Given the description of an element on the screen output the (x, y) to click on. 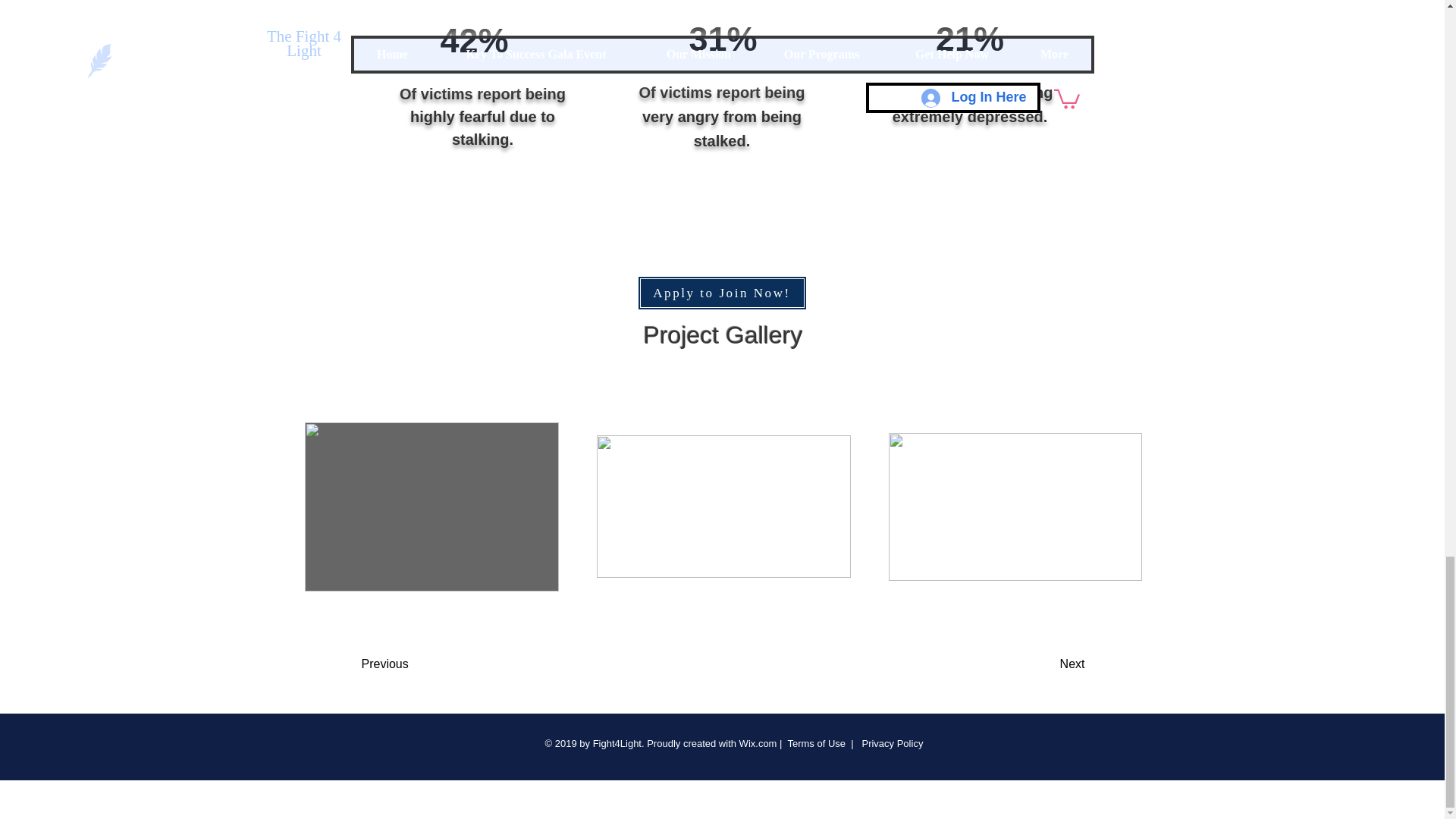
Next (1033, 664)
 Privacy Policy (891, 743)
Terms of Use (816, 743)
Wix.com (758, 743)
Previous (422, 664)
depressed.png (956, 10)
Apply to Join Now! (721, 293)
angry.png (723, 10)
